Given the description of an element on the screen output the (x, y) to click on. 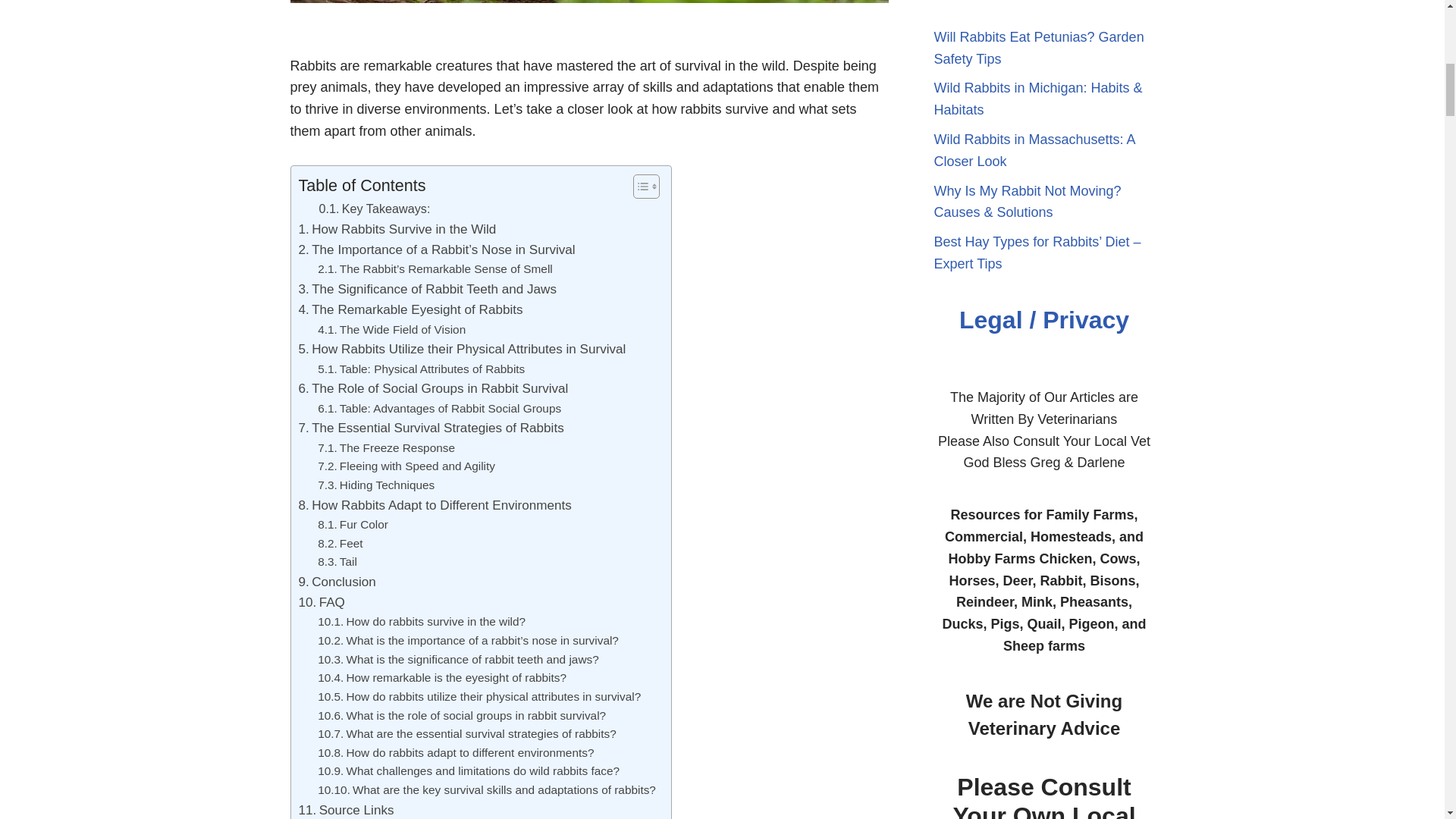
Table: Physical Attributes of Rabbits (420, 369)
How Rabbits Survive in the Wild (397, 229)
Table: Advantages of Rabbit Social Groups (438, 408)
Key Takeaways: (373, 209)
The Freeze Response (385, 447)
The Wide Field of Vision (391, 330)
The Remarkable Eyesight of Rabbits (410, 309)
Hiding Techniques (375, 485)
The Significance of Rabbit Teeth and Jaws (427, 289)
Fleeing with Speed and Agility (406, 466)
The Role of Social Groups in Rabbit Survival (433, 388)
How Rabbits Adapt to Different Environments (435, 505)
The Essential Survival Strategies of Rabbits (431, 427)
How Rabbits Utilize their Physical Attributes in Survival (462, 349)
